Given the description of an element on the screen output the (x, y) to click on. 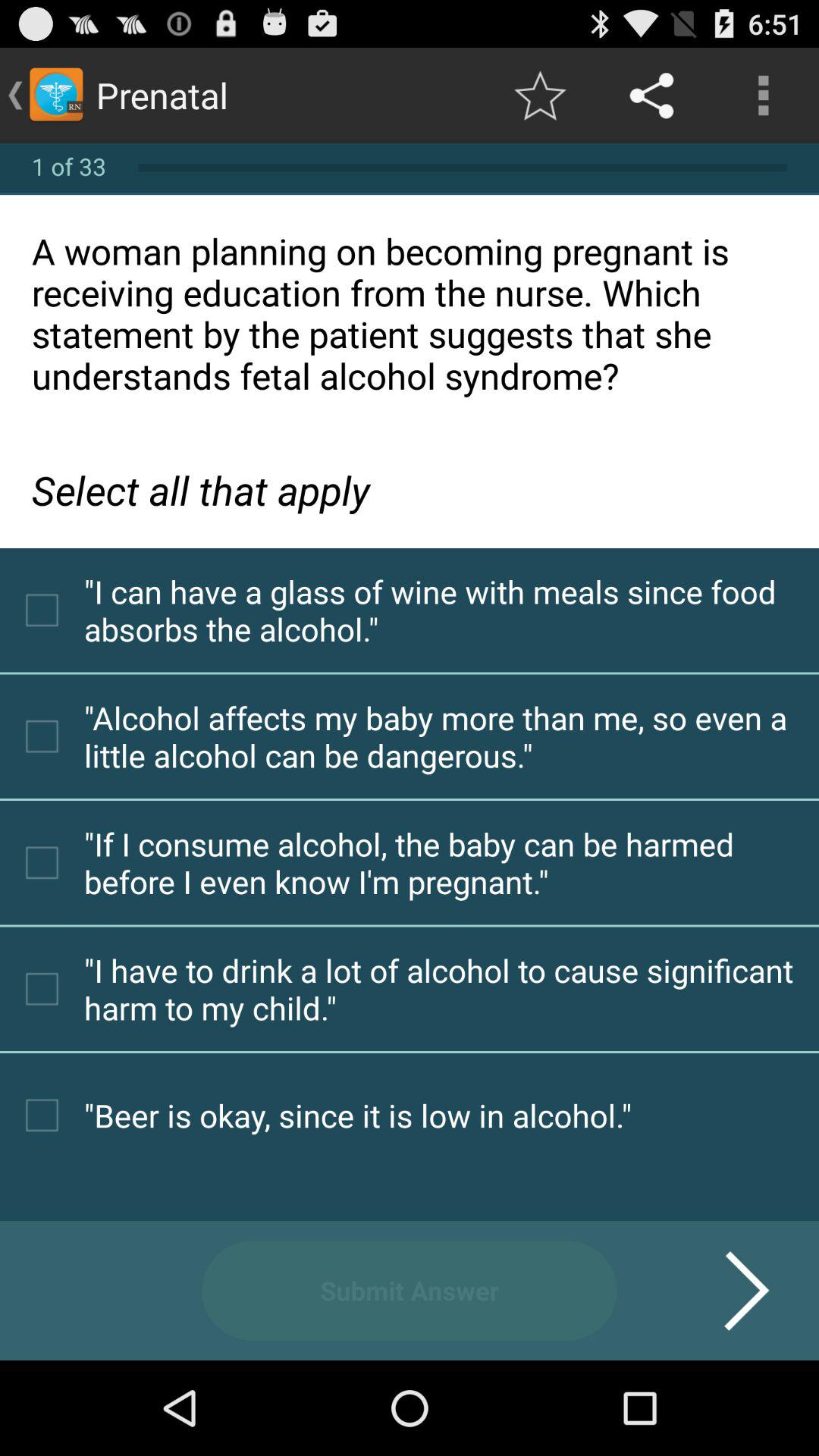
press icon below the beer is okay item (409, 1290)
